Given the description of an element on the screen output the (x, y) to click on. 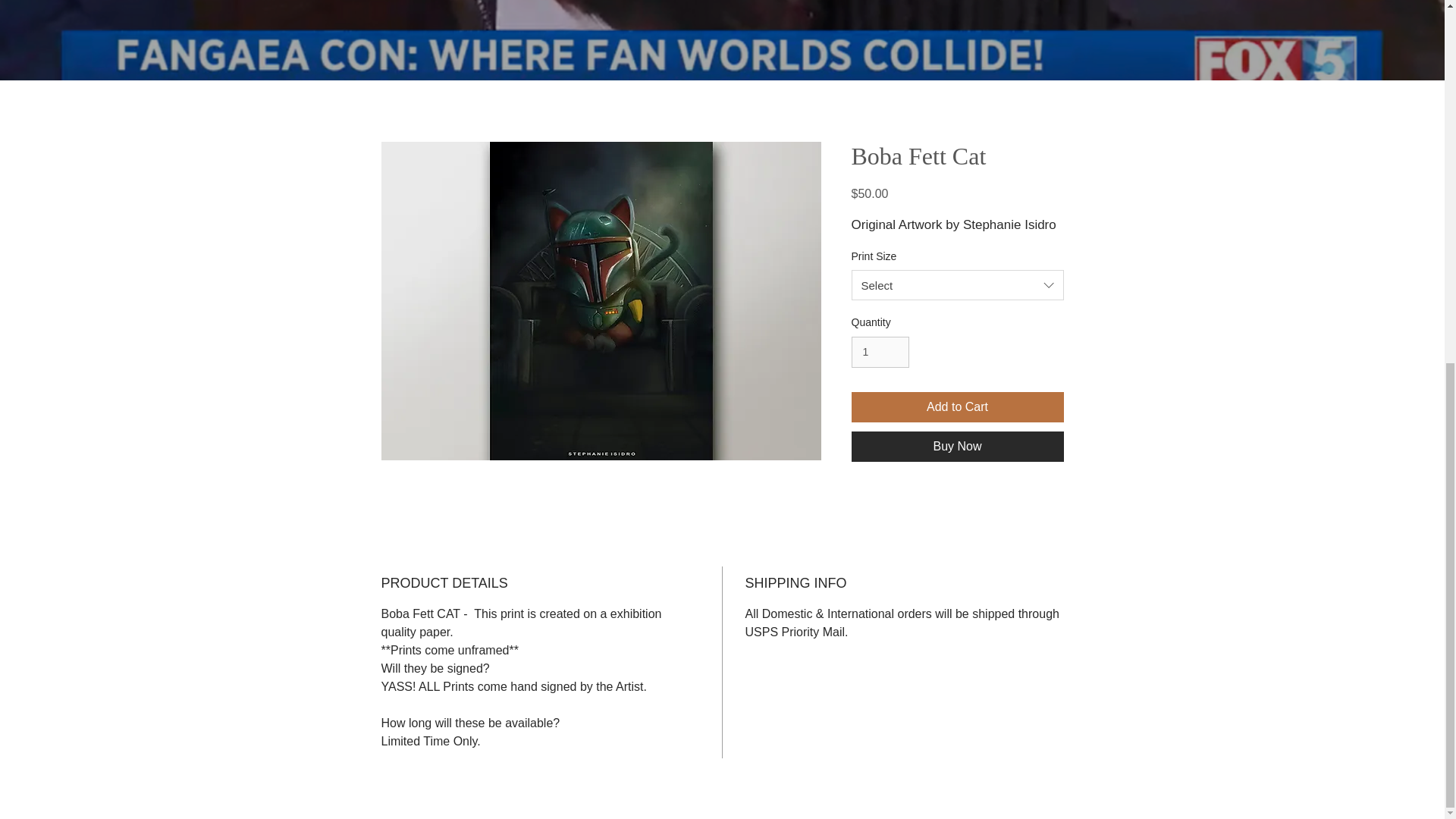
Select (956, 285)
1 (879, 351)
Add to Cart (956, 407)
Buy Now (956, 446)
